Given the description of an element on the screen output the (x, y) to click on. 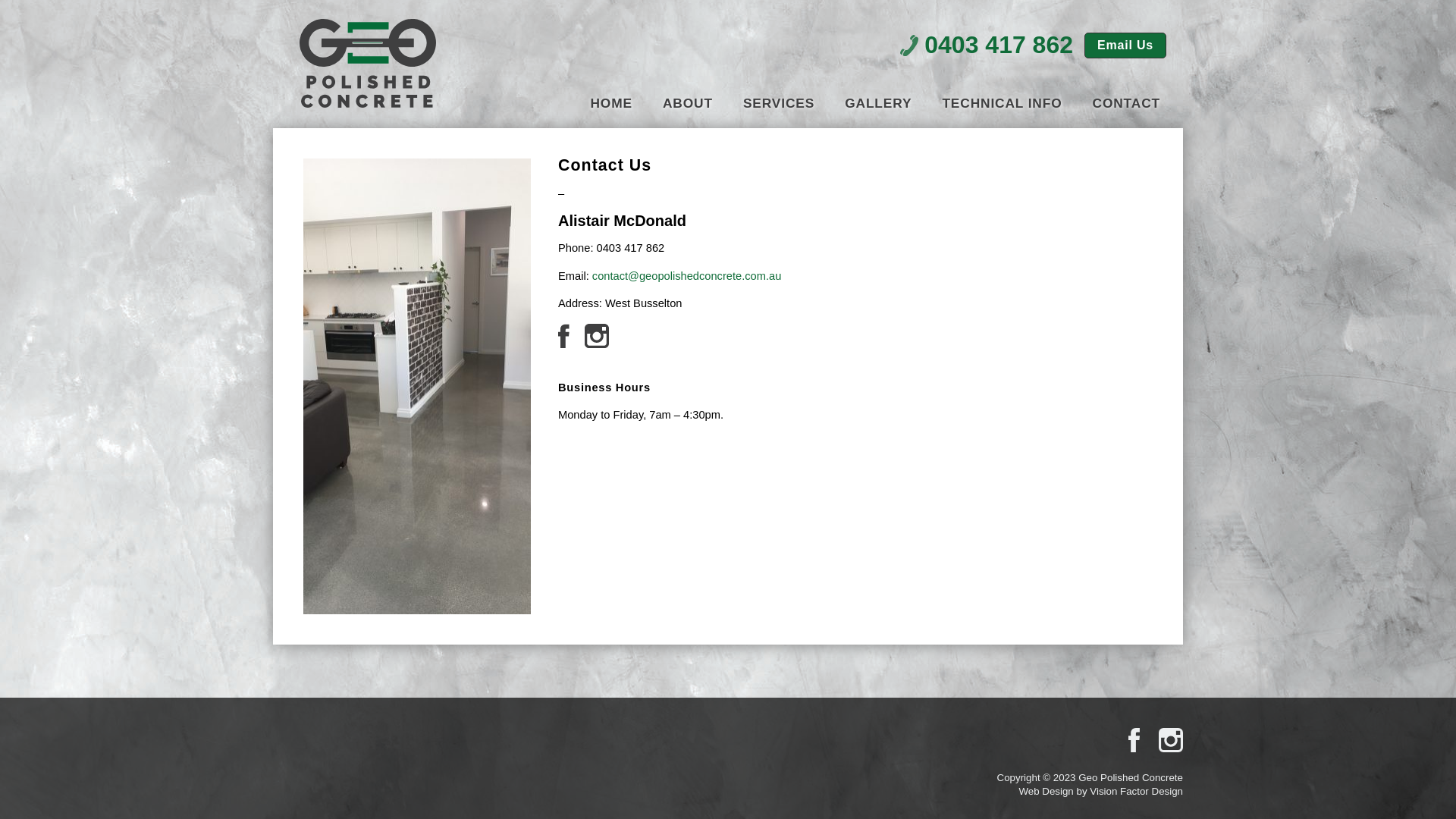
CONTACT Element type: text (1126, 104)
Email Us Element type: text (1125, 45)
HOME Element type: text (610, 104)
TECHNICAL INFO Element type: text (1001, 104)
Vision Factor Design Element type: text (1136, 791)
SERVICES Element type: text (778, 104)
ABOUT Element type: text (687, 104)
GALLERY Element type: text (877, 104)
contact@geopolishedconcrete.com.au Element type: text (686, 275)
fb-icon Element type: hover (563, 344)
Web Design Element type: text (1045, 791)
0403 417 862 Element type: text (998, 44)
ig-icon Element type: hover (596, 344)
